Given the description of an element on the screen output the (x, y) to click on. 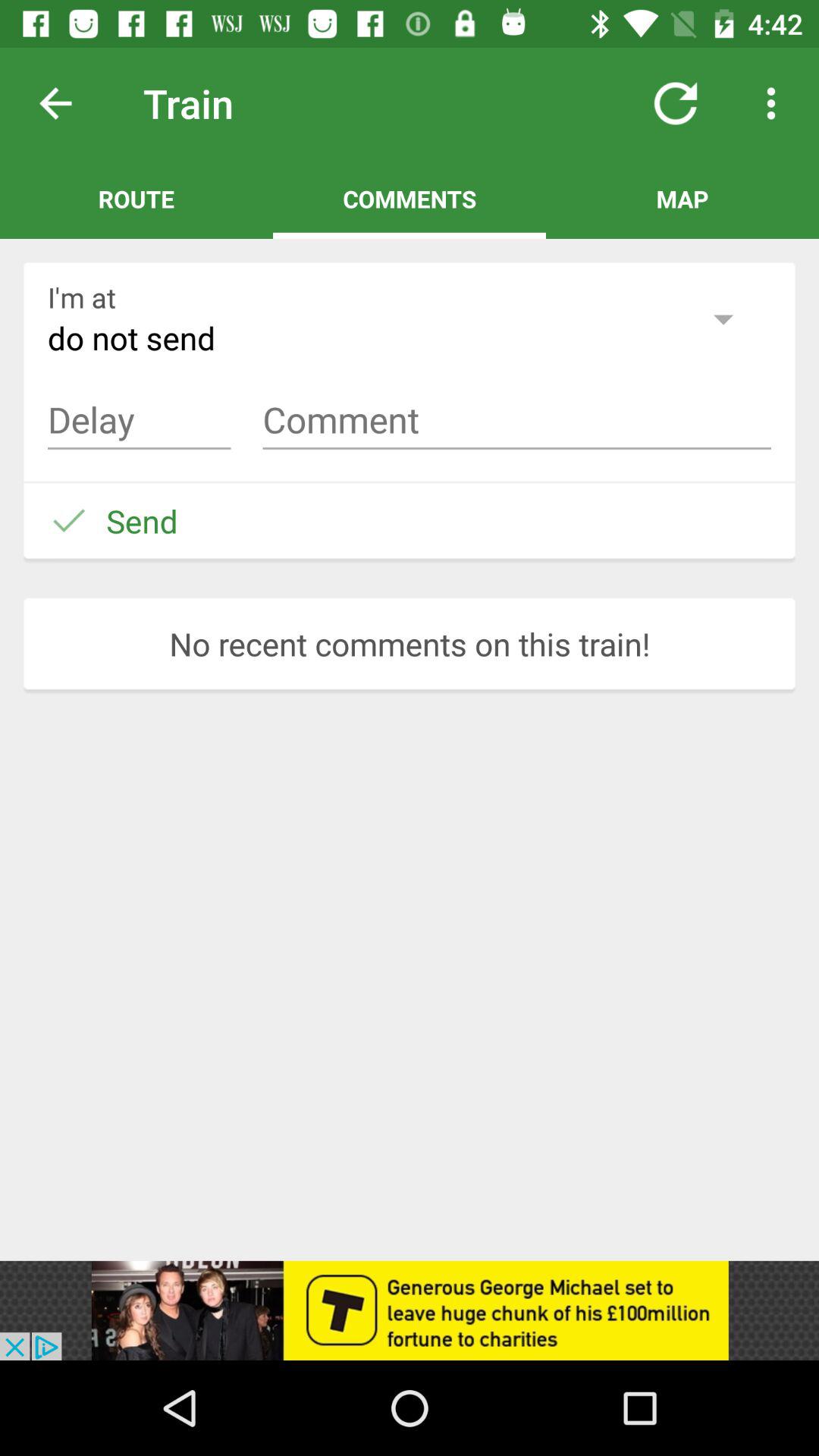
show outside advertisement (409, 1310)
